Given the description of an element on the screen output the (x, y) to click on. 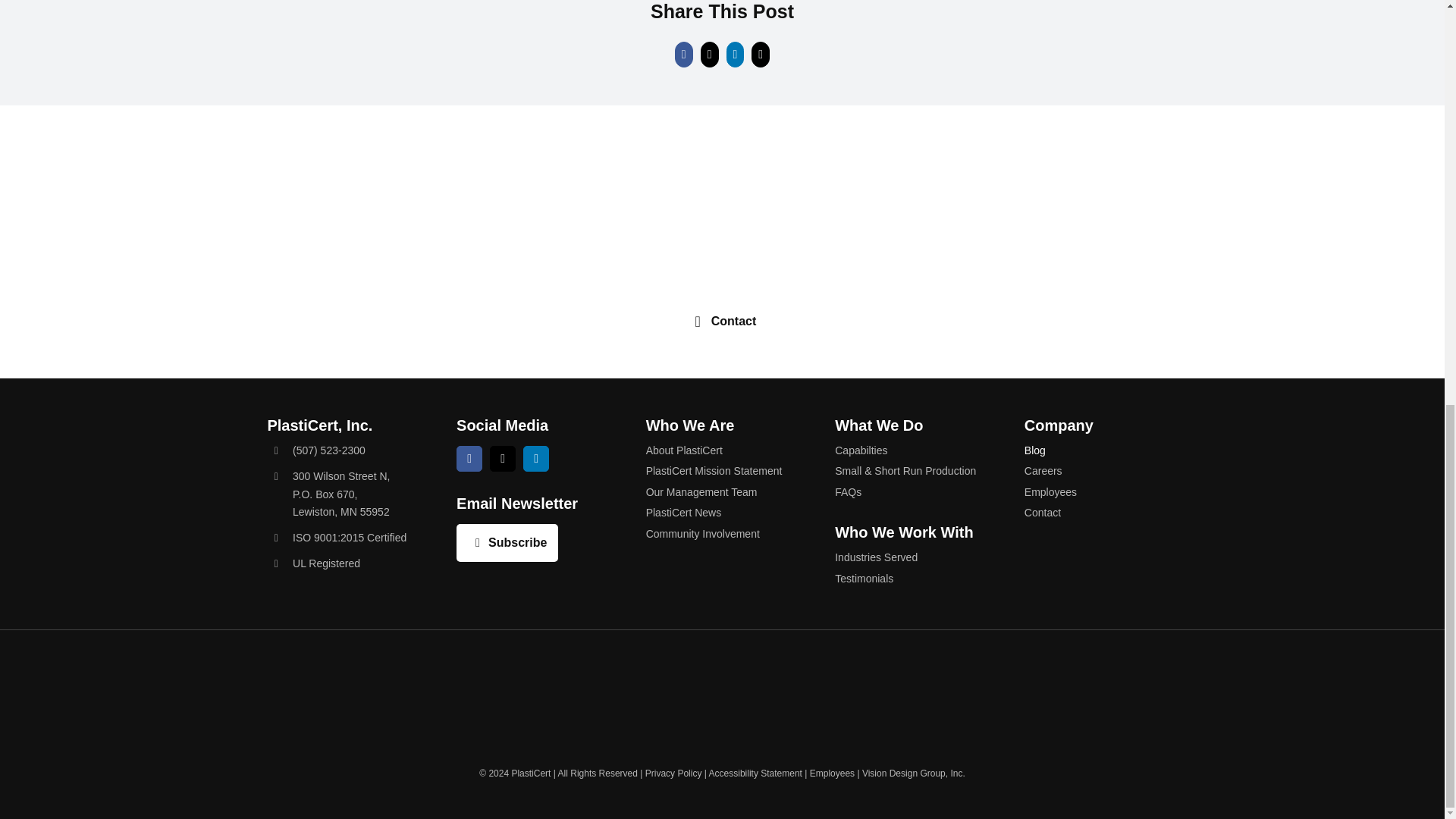
Subscribe (507, 542)
Contact (721, 321)
About PlastiCert (722, 450)
Subscribe (507, 542)
PlastiCert Mission Statement (722, 470)
X (502, 458)
Facebook (469, 458)
LinkedIn (535, 458)
